Given the description of an element on the screen output the (x, y) to click on. 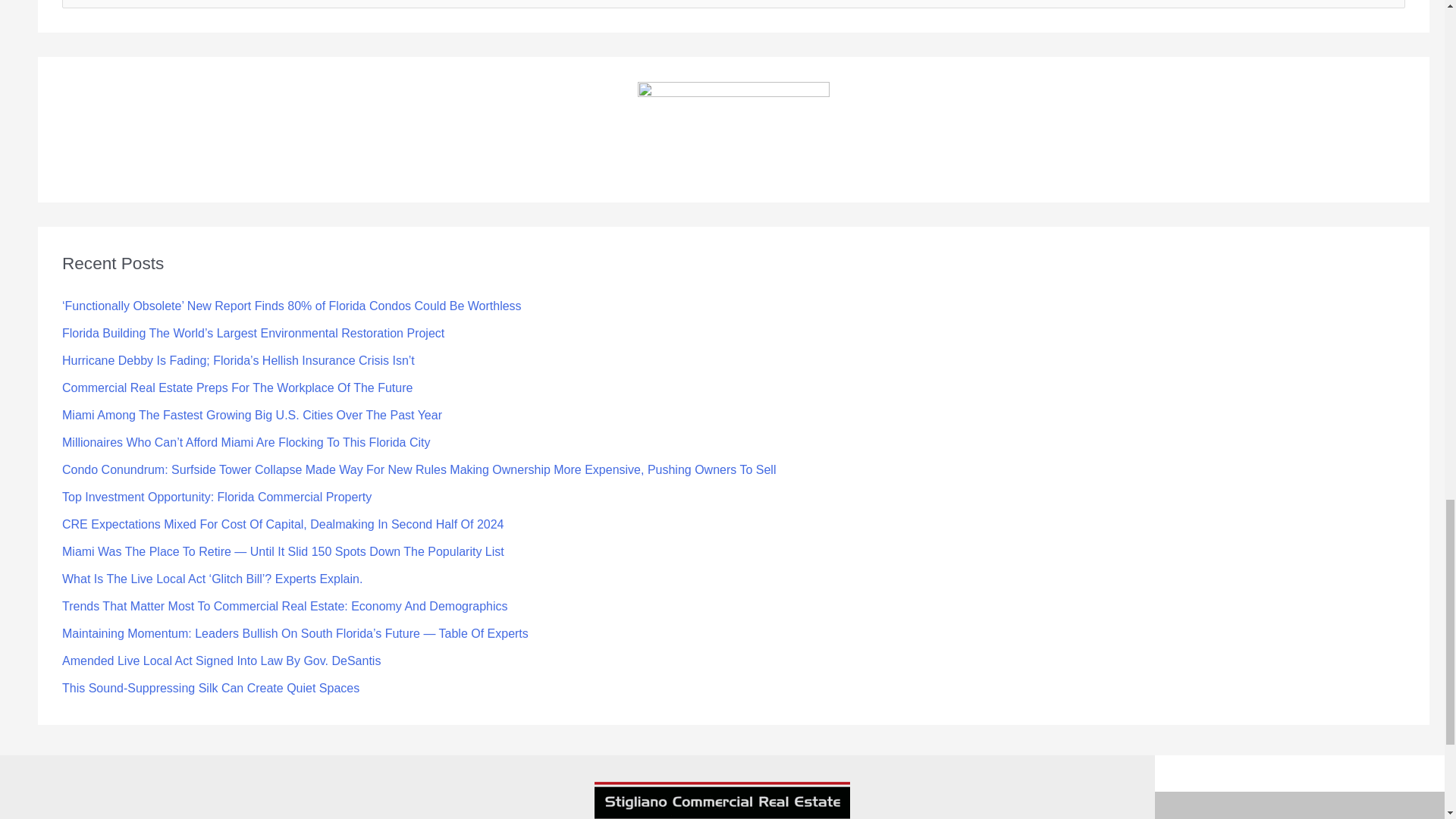
Search (1388, 8)
Search (1388, 8)
Search (1388, 8)
